Given the description of an element on the screen output the (x, y) to click on. 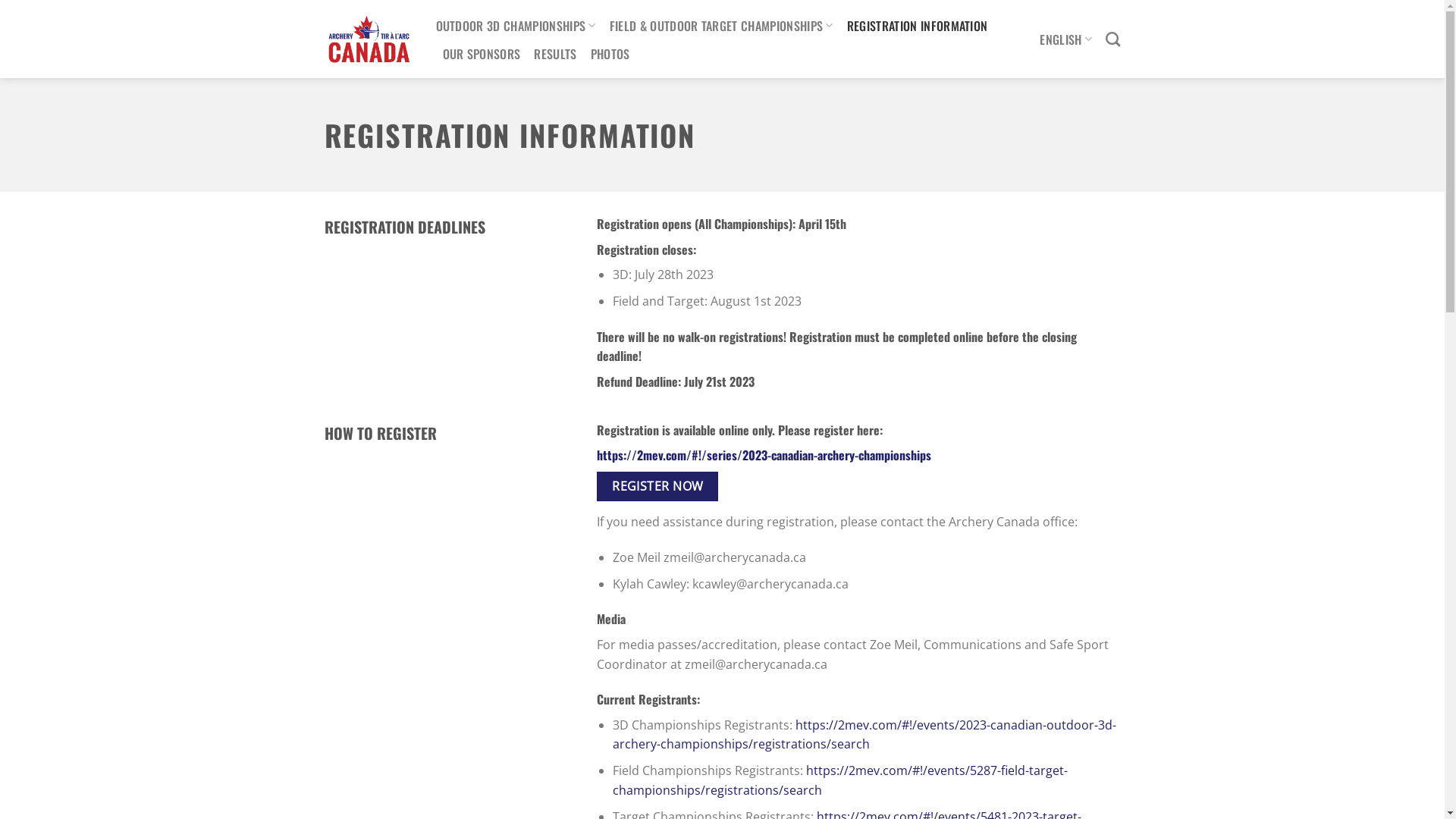
OUR SPONSORS Element type: text (481, 53)
Canadian Outdoor Archery Championships Element type: hover (368, 38)
FIELD & OUTDOOR TARGET CHAMPIONSHIPS Element type: text (721, 25)
REGISTRATION INFORMATION Element type: text (917, 25)
OUTDOOR 3D CHAMPIONSHIPS Element type: text (515, 25)
PHOTOS Element type: text (610, 53)
REGISTER NOW Element type: text (657, 486)
RESULTS Element type: text (554, 53)
ENGLISH Element type: text (1065, 38)
